Given the description of an element on the screen output the (x, y) to click on. 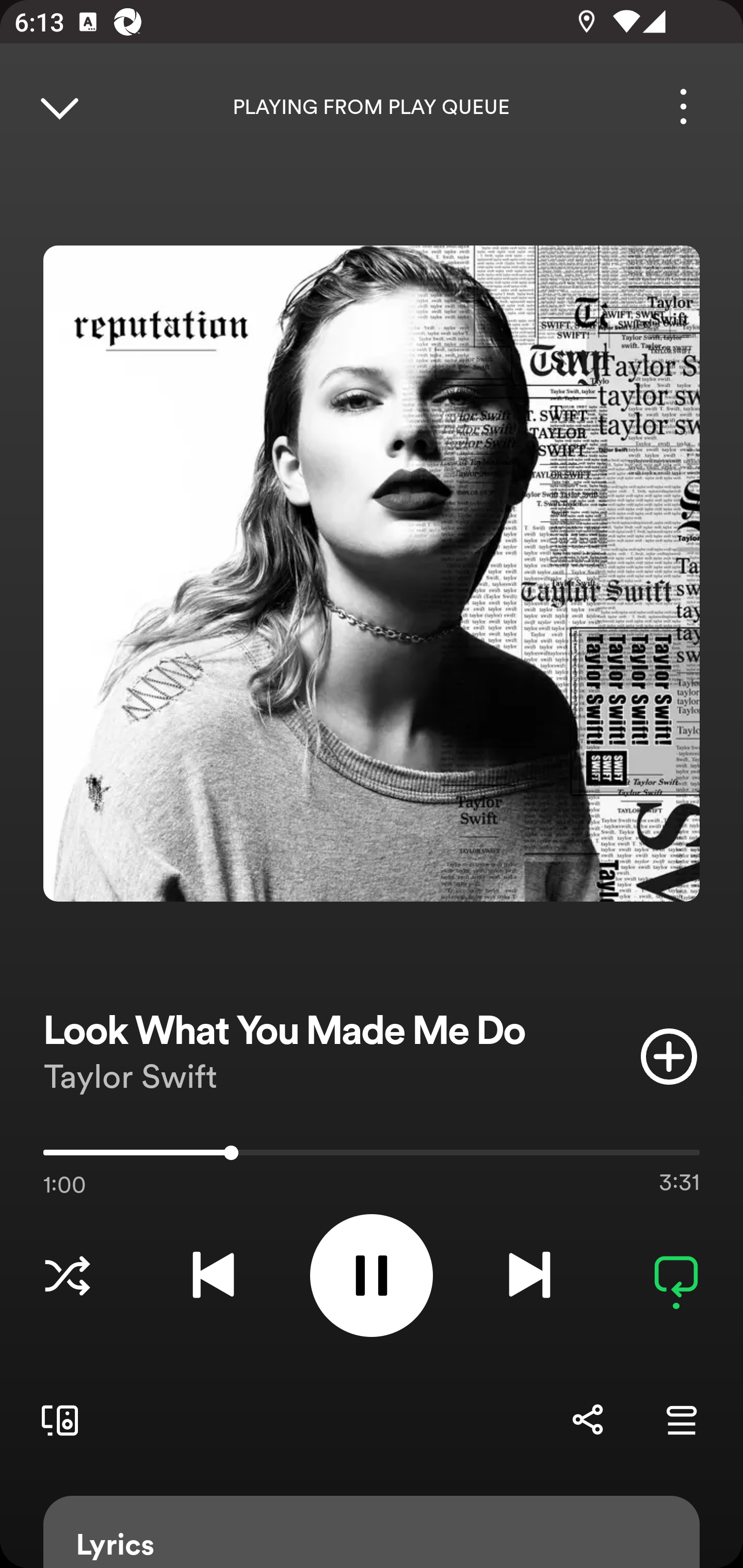
Close (59, 106)
More options for song Look What You Made Me Do (683, 106)
PLAYING FROM PLAY QUEUE (371, 107)
Add item (669, 1056)
1:00 3:31 60089.0 Use volume keys to adjust (371, 1157)
Pause (371, 1275)
Previous (212, 1275)
Next (529, 1275)
Choose a Listening Mode (66, 1275)
Repeat (676, 1275)
Share (587, 1419)
Go to Queue (681, 1419)
Connect to a device. Opens the devices menu (55, 1419)
Lyrics (371, 1531)
